Given the description of an element on the screen output the (x, y) to click on. 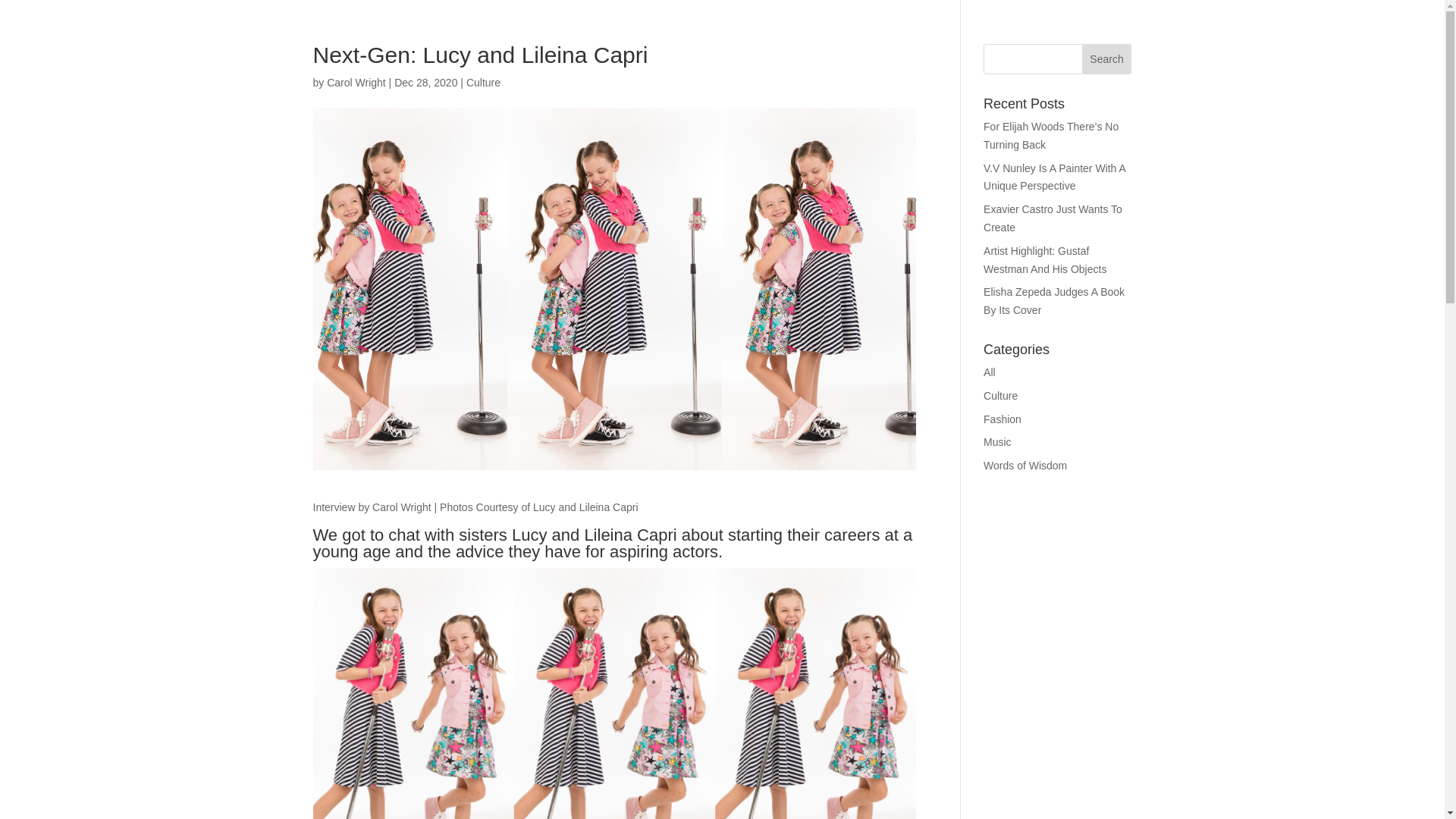
Search (1106, 59)
Elisha Zepeda Judges A Book By Its Cover (1054, 300)
Culture (1000, 395)
Search (1106, 59)
Artist Highlight: Gustaf Westman And His Objects (1045, 259)
All (989, 372)
Posts by Carol Wright (355, 82)
Fashion (1003, 419)
V.V Nunley Is A Painter With A Unique Perspective (1054, 177)
Music (997, 441)
